Given the description of an element on the screen output the (x, y) to click on. 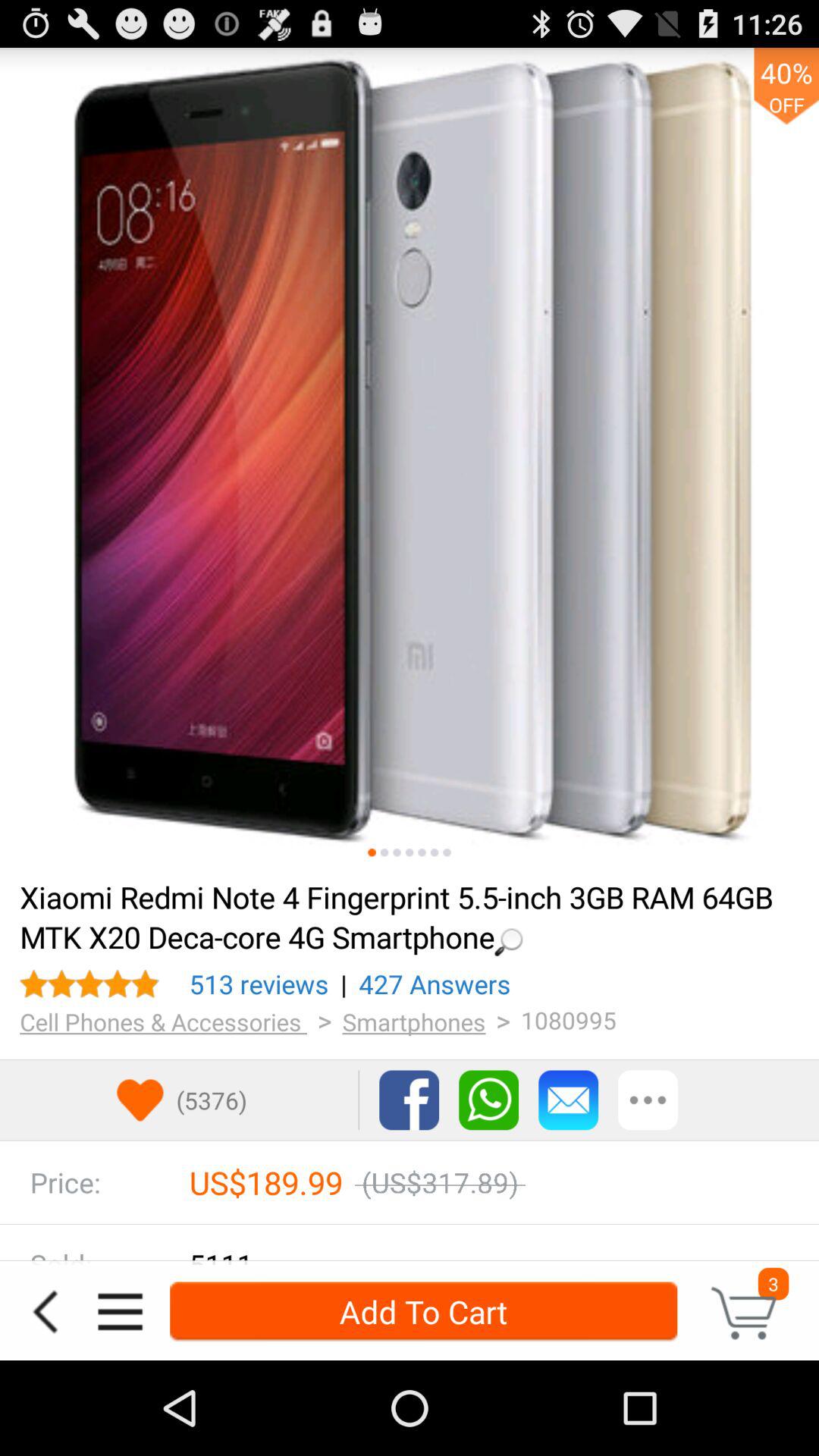
go to the next photo (371, 852)
